Given the description of an element on the screen output the (x, y) to click on. 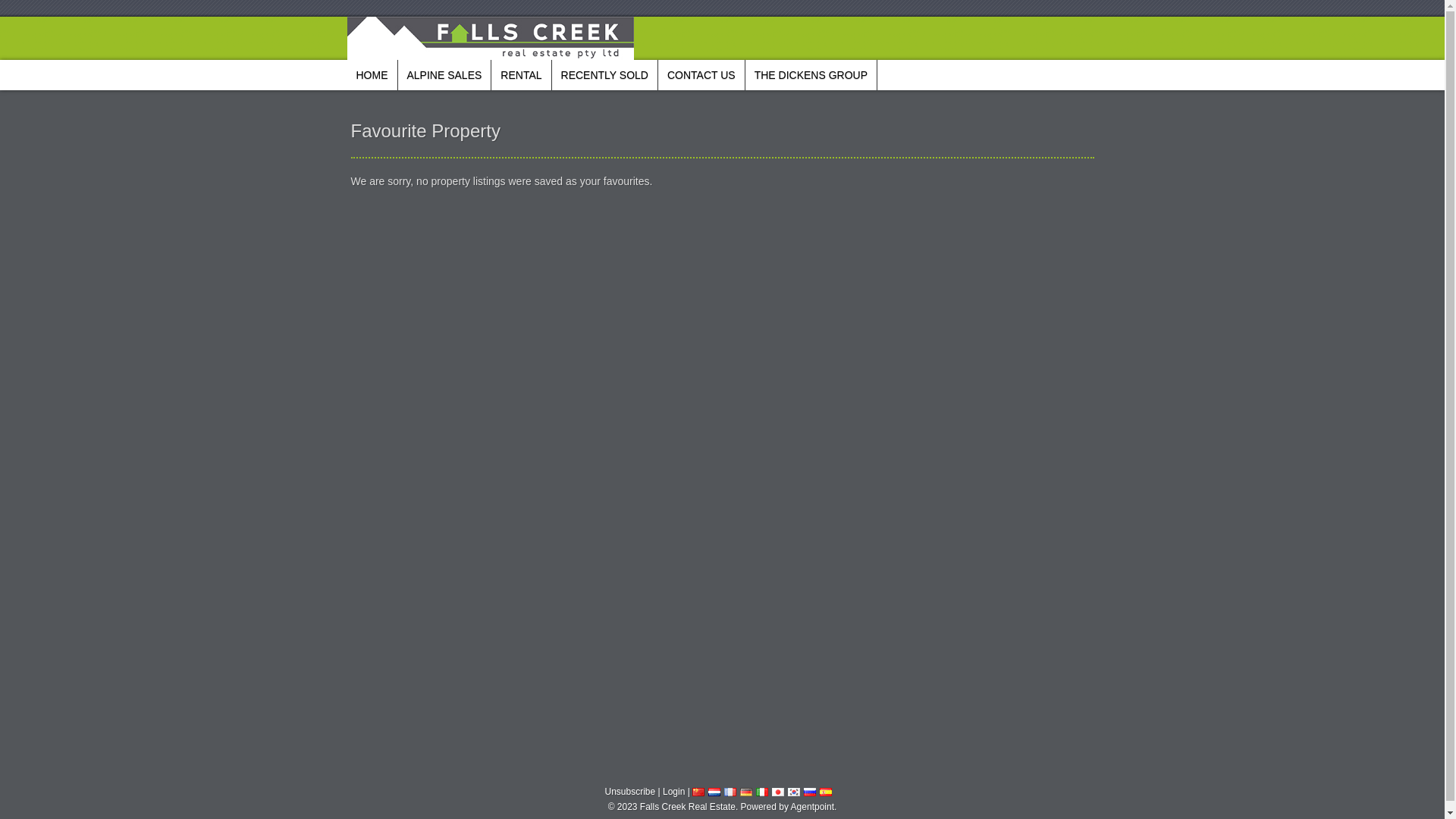
THE DICKENS GROUP Element type: text (810, 74)
French Element type: hover (730, 791)
Italian Element type: hover (762, 791)
Falls Creek Real Estate -  Element type: hover (490, 37)
Japanese Element type: hover (777, 791)
Unsubscribe Element type: text (630, 791)
Korean Element type: hover (793, 791)
RENTAL Element type: text (520, 74)
RECENTLY SOLD Element type: text (604, 74)
ALPINE SALES Element type: text (443, 74)
Russian Element type: hover (809, 791)
Dutch Element type: hover (714, 791)
HOME Element type: text (372, 74)
German Element type: hover (746, 791)
Spanish Element type: hover (825, 791)
Chinese Simplified Element type: hover (698, 791)
CONTACT US Element type: text (701, 74)
Agentpoint Element type: text (812, 806)
Login Element type: text (673, 791)
